Given the description of an element on the screen output the (x, y) to click on. 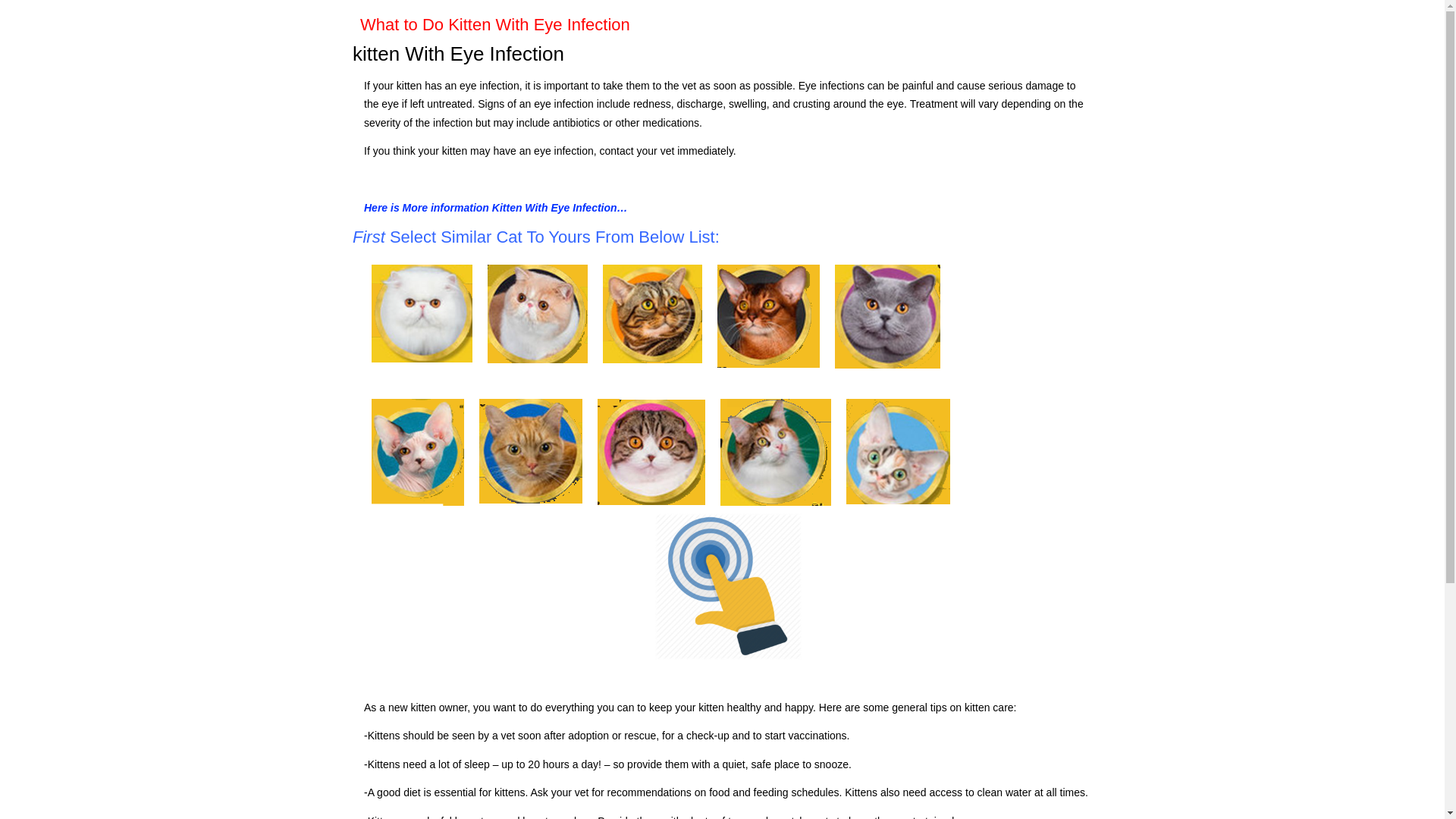
Cat 3 (651, 313)
Cat 1 (421, 313)
Cat 2 (537, 313)
Cat 5 (887, 316)
Cat 8 (650, 451)
Cat 10 (897, 451)
Cat 9 (775, 452)
Cat 4 (768, 315)
Cat 7 (530, 450)
